Given the description of an element on the screen output the (x, y) to click on. 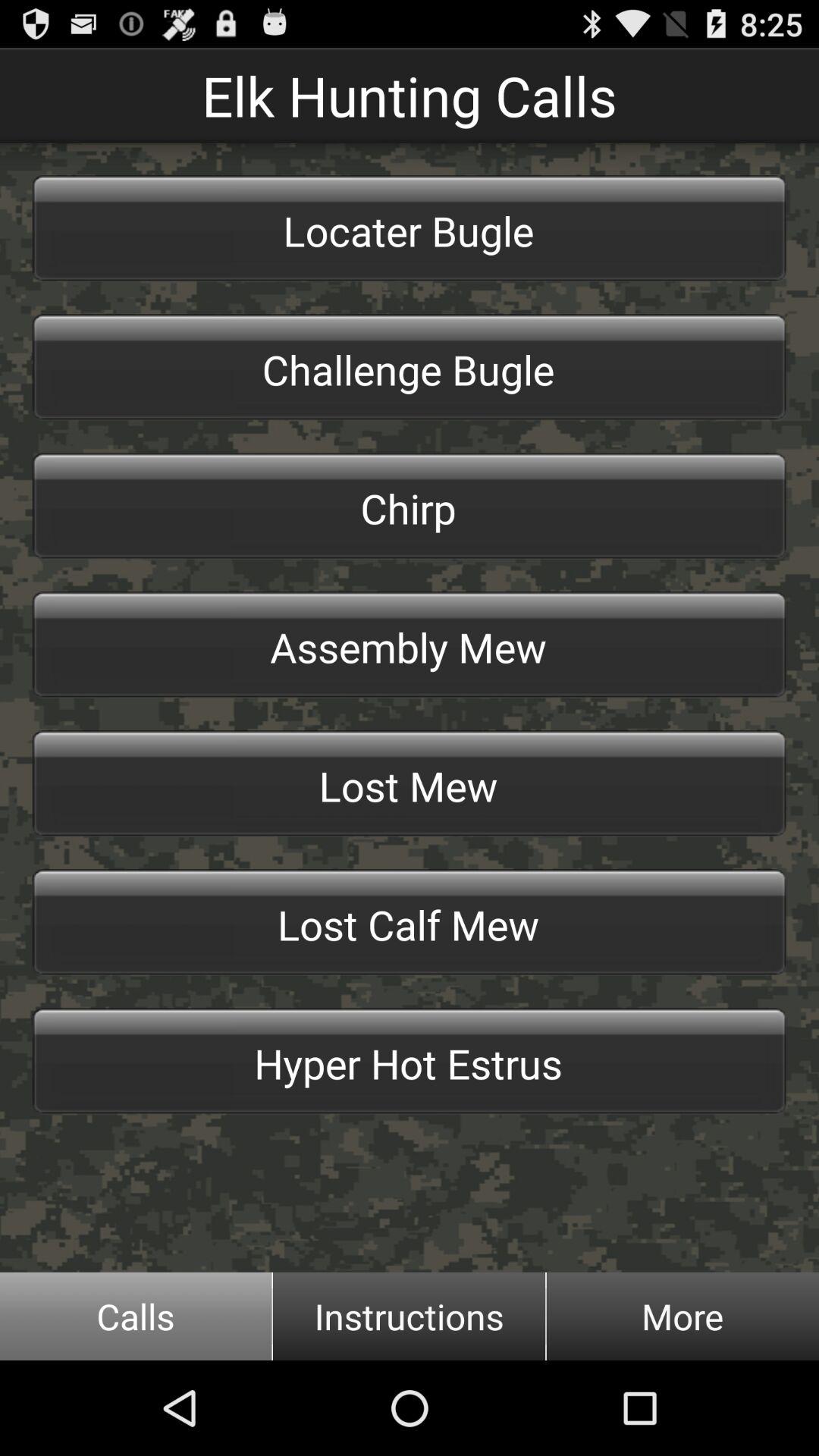
choose app above the calls item (409, 1060)
